Given the description of an element on the screen output the (x, y) to click on. 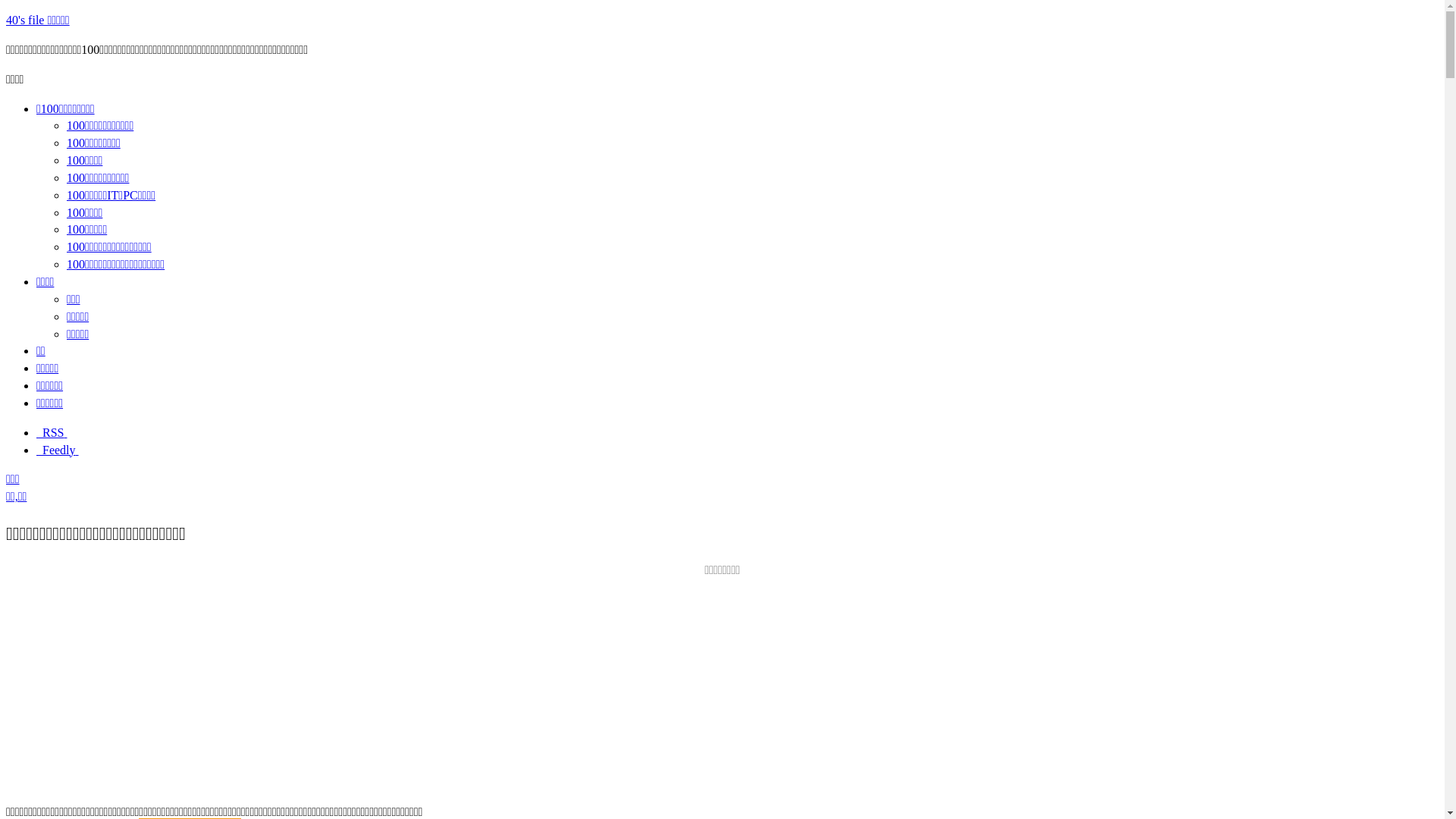
  Feedly  Element type: text (57, 449)
Advertisement Element type: hover (721, 685)
  RSS  Element type: text (51, 432)
